Given the description of an element on the screen output the (x, y) to click on. 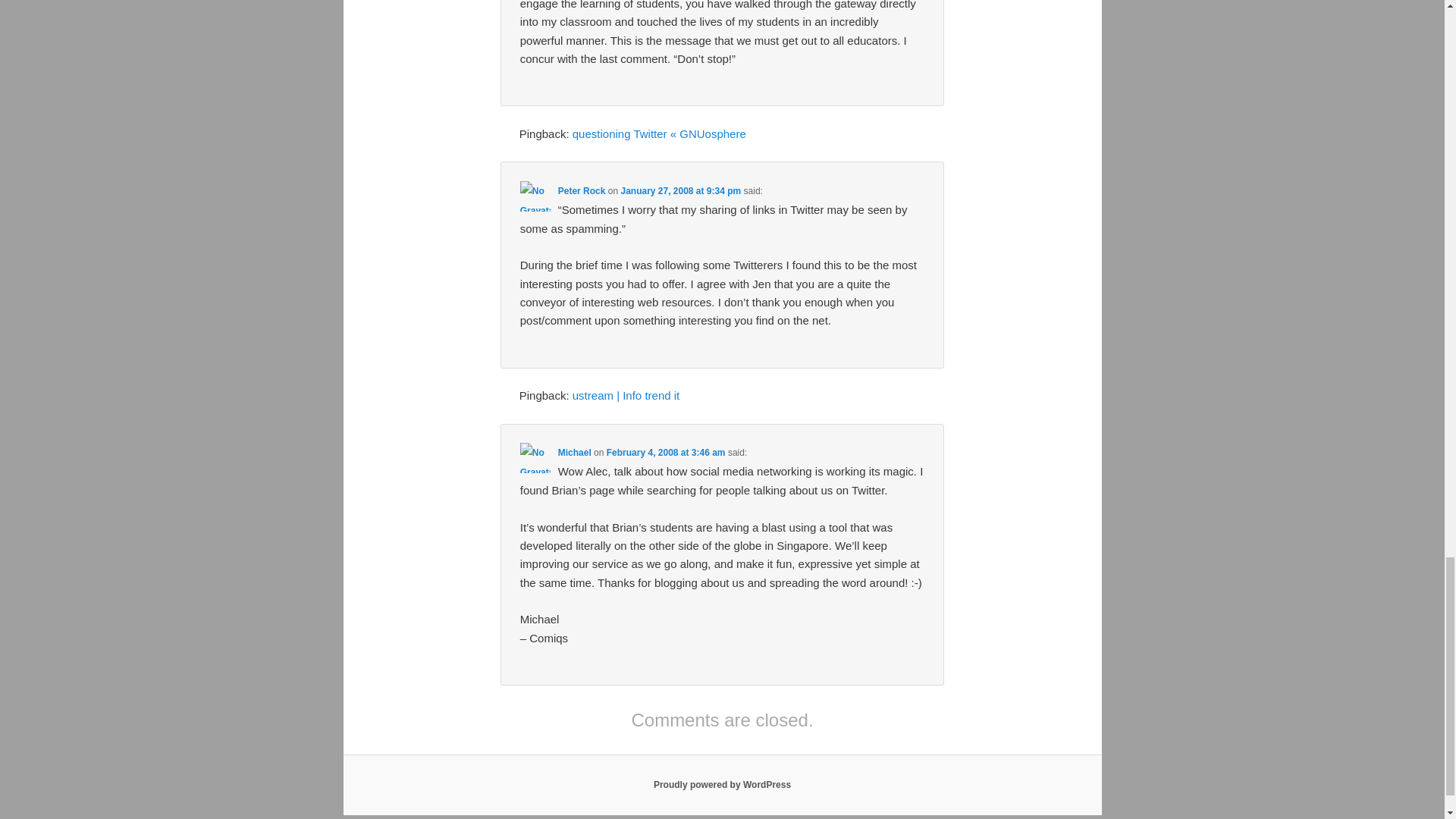
Semantic Personal Publishing Platform (721, 784)
